Given the description of an element on the screen output the (x, y) to click on. 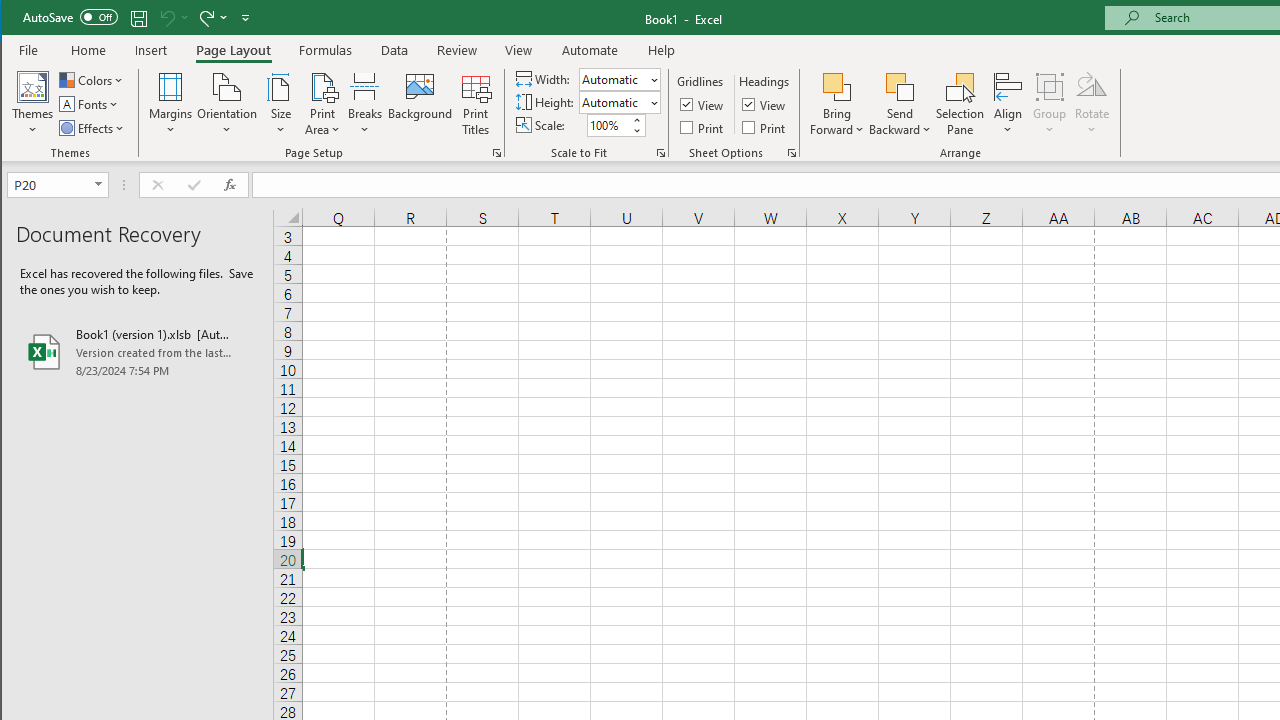
Margins (170, 104)
Print Titles (475, 104)
Send Backward (900, 86)
Page Setup (660, 152)
Width (619, 78)
